Given the description of an element on the screen output the (x, y) to click on. 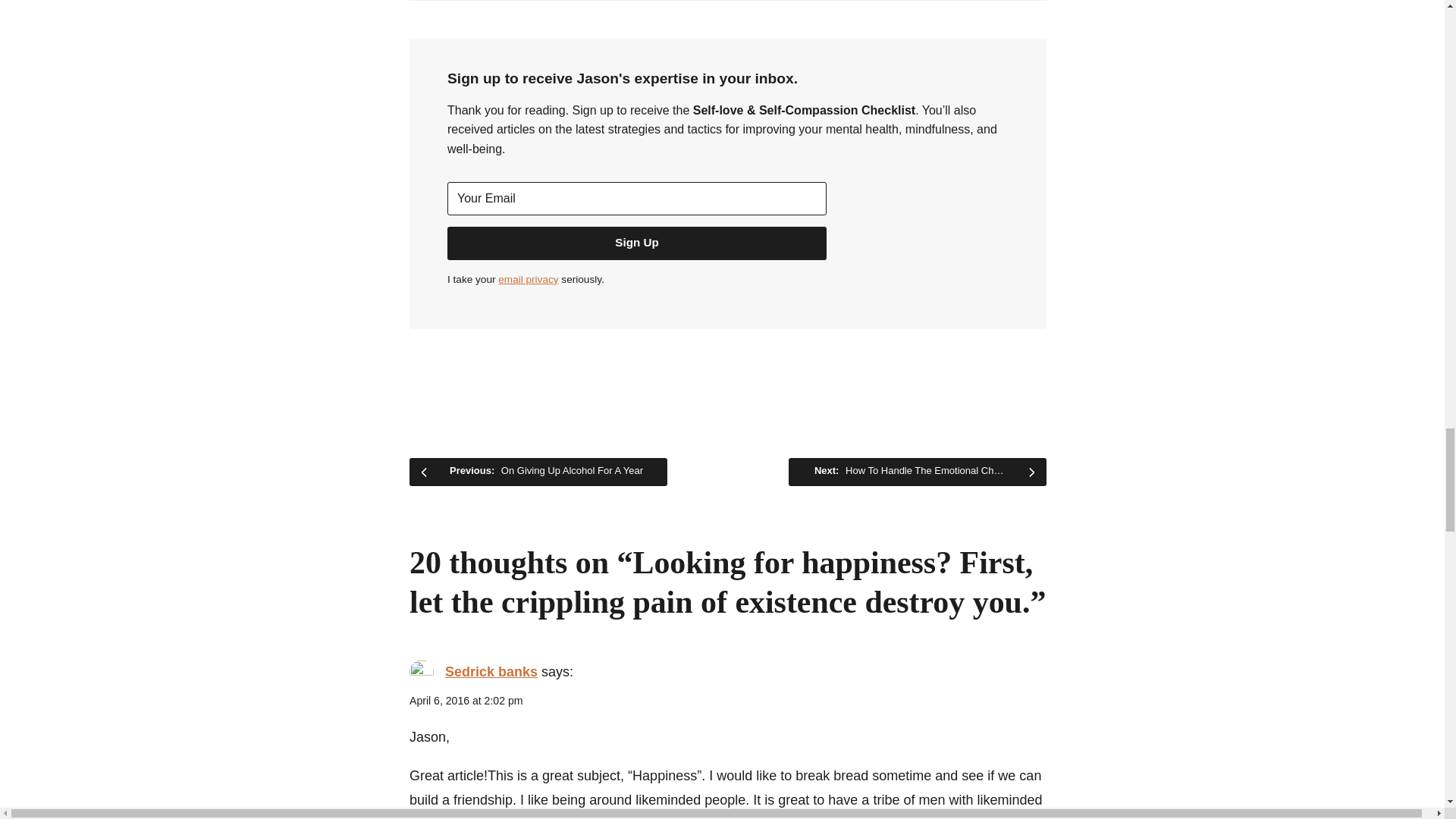
April 6, 2016 at 2:02 pm (465, 700)
Sedrick banks (491, 671)
Previous: On Giving Up Alcohol For A Year (537, 471)
Sign Up (636, 243)
Sign Up (636, 243)
Privacy Policy (527, 279)
email privacy (527, 279)
Next: How To Handle The Emotional Chaos Of Change (917, 471)
Your Email (636, 198)
